Given the description of an element on the screen output the (x, y) to click on. 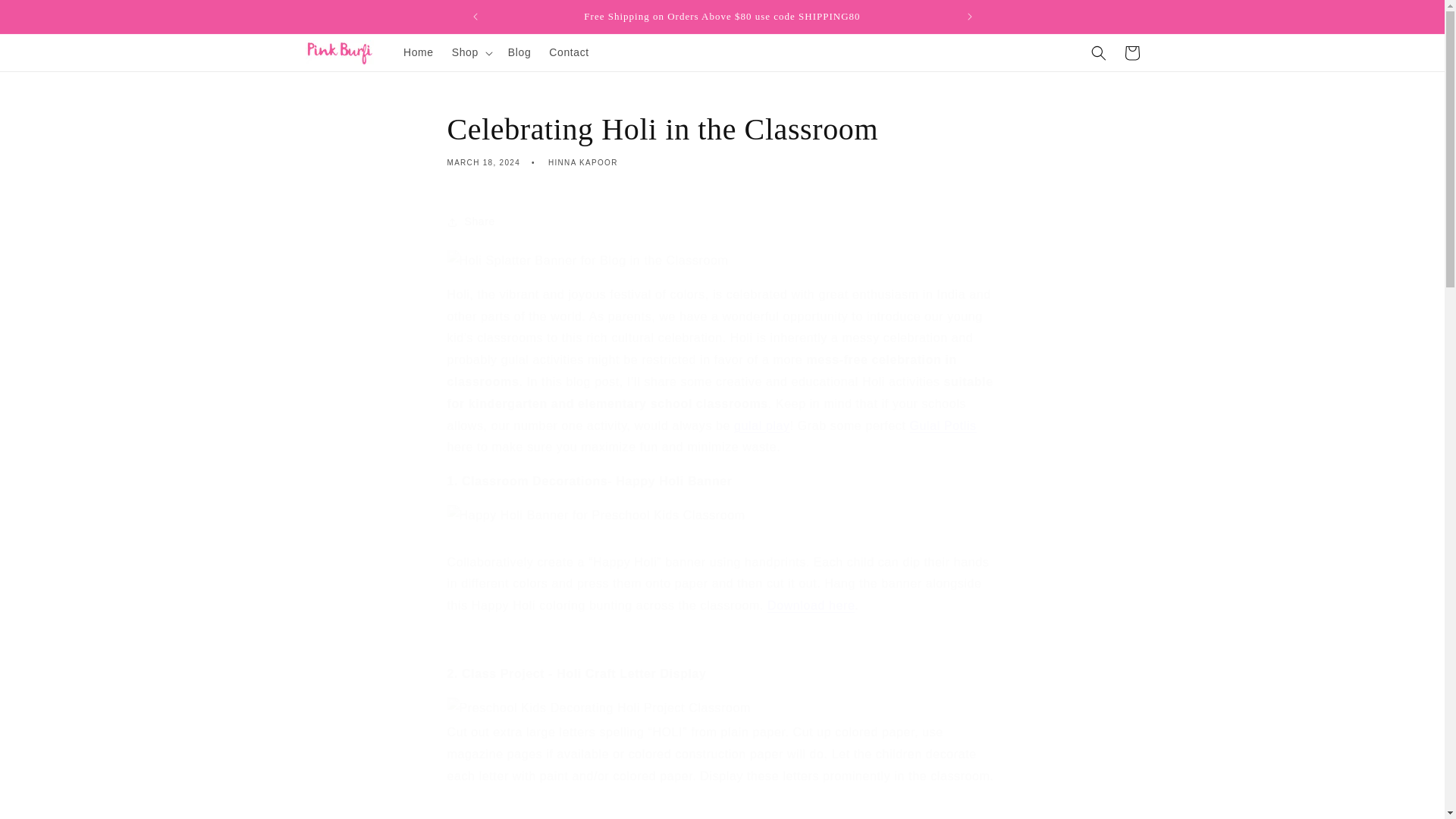
Home (418, 51)
Gulal Potli Bags link (943, 425)
Share (721, 222)
gulal play (761, 425)
Cart (1131, 52)
Gulal Holi Power (761, 425)
Skip to content (45, 17)
Holi Downloads Printables FREE Worksheets Coloring (810, 604)
Blog (519, 51)
Contact (568, 51)
